Given the description of an element on the screen output the (x, y) to click on. 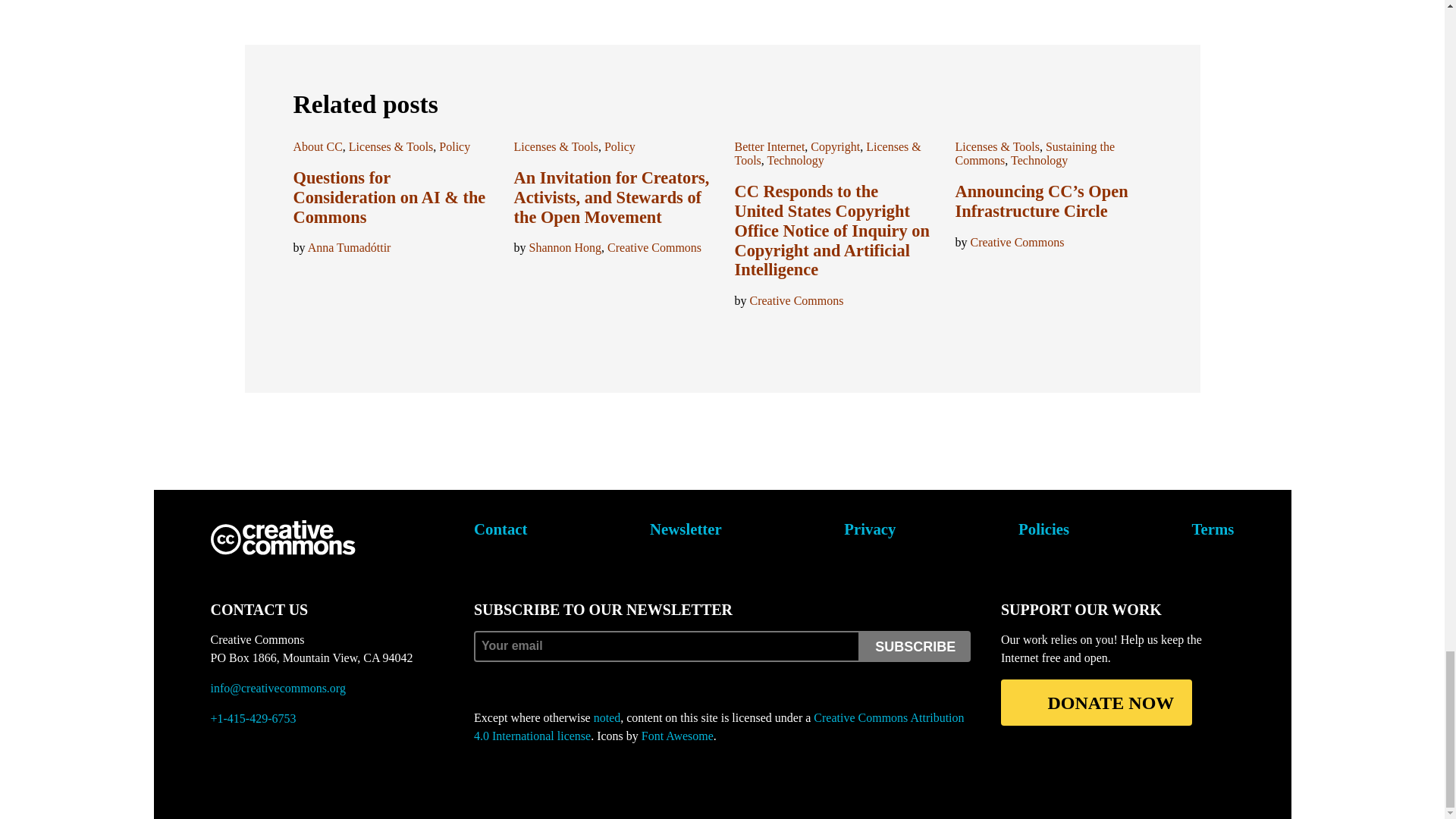
subscribe (915, 645)
